Given the description of an element on the screen output the (x, y) to click on. 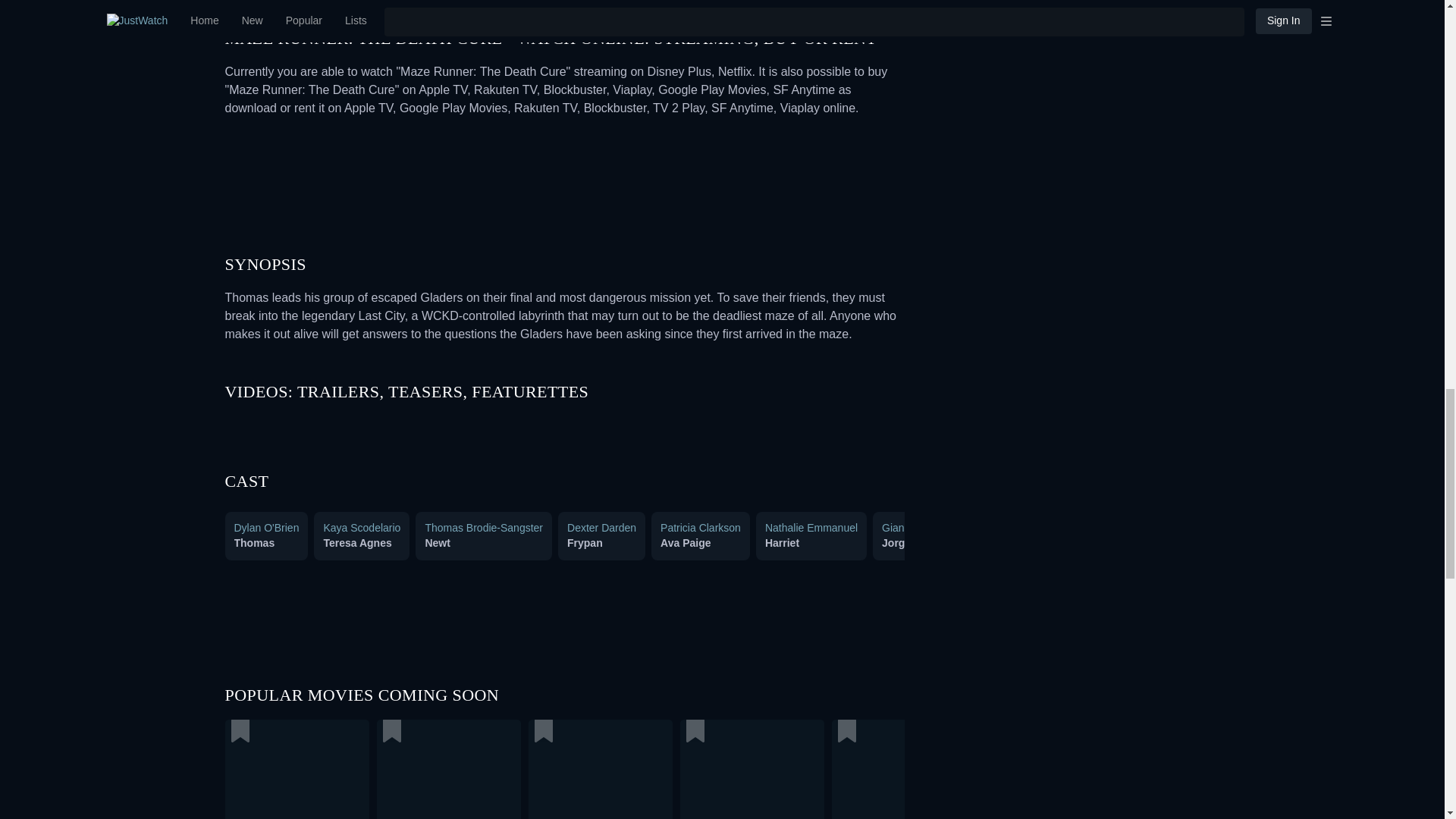
Sonya (1364, 542)
Newt (437, 542)
Teresa Agnes (357, 542)
Frypan (584, 542)
Ava Paige (685, 542)
Aris Jones (1286, 542)
Harriet (782, 542)
Thomas (253, 542)
Minho (1191, 542)
Jorge (896, 542)
Janson (1013, 542)
Lawrence (1101, 542)
